Given the description of an element on the screen output the (x, y) to click on. 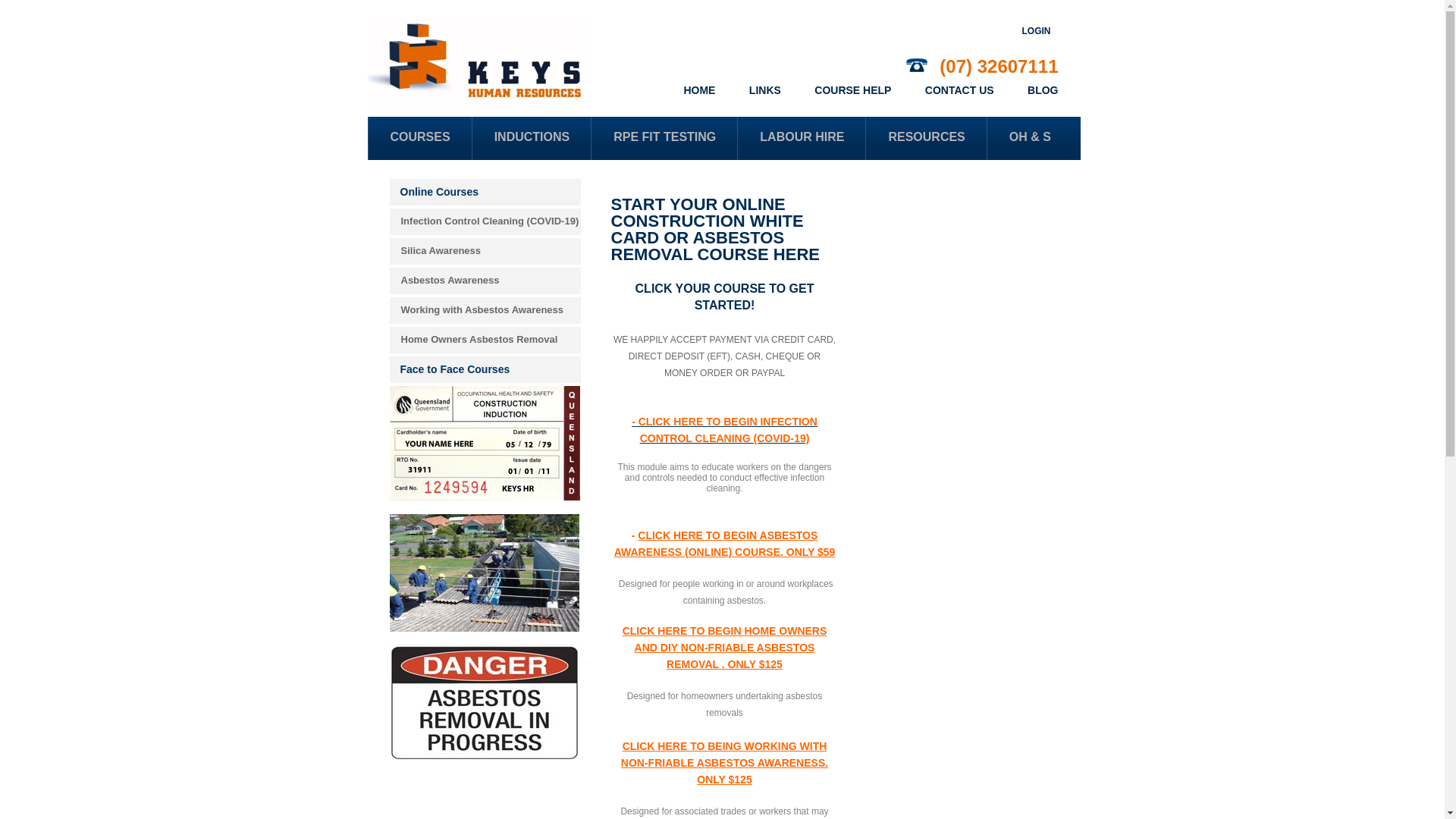
RESOURCES Element type: text (925, 138)
INDUCTIONS Element type: text (531, 138)
CONTACT US Element type: text (959, 90)
HOME Element type: text (699, 90)
Asbestos Awareness Element type: text (484, 280)
LOGIN Element type: text (1036, 30)
COURSES Element type: text (418, 138)
- CLICK HERE TO BEGIN INFECTION CONTROL CLEANING (COVID-19) Element type: text (724, 429)
Working with Asbestos Awareness Element type: text (484, 310)
Infection Control Cleaning (COVID-19) Element type: text (484, 221)
Home Owners Asbestos Removal Element type: text (484, 339)
OH & S Element type: text (1029, 138)
COURSE HELP Element type: text (852, 90)
RPE FIT TESTING Element type: text (663, 138)
BLOG Element type: text (1042, 90)
LABOUR HIRE Element type: text (801, 138)
Face to Face Courses Element type: text (484, 369)
Silica Awareness Element type: text (484, 251)
LINKS Element type: text (765, 90)
Online Courses Element type: text (484, 191)
